Given the description of an element on the screen output the (x, y) to click on. 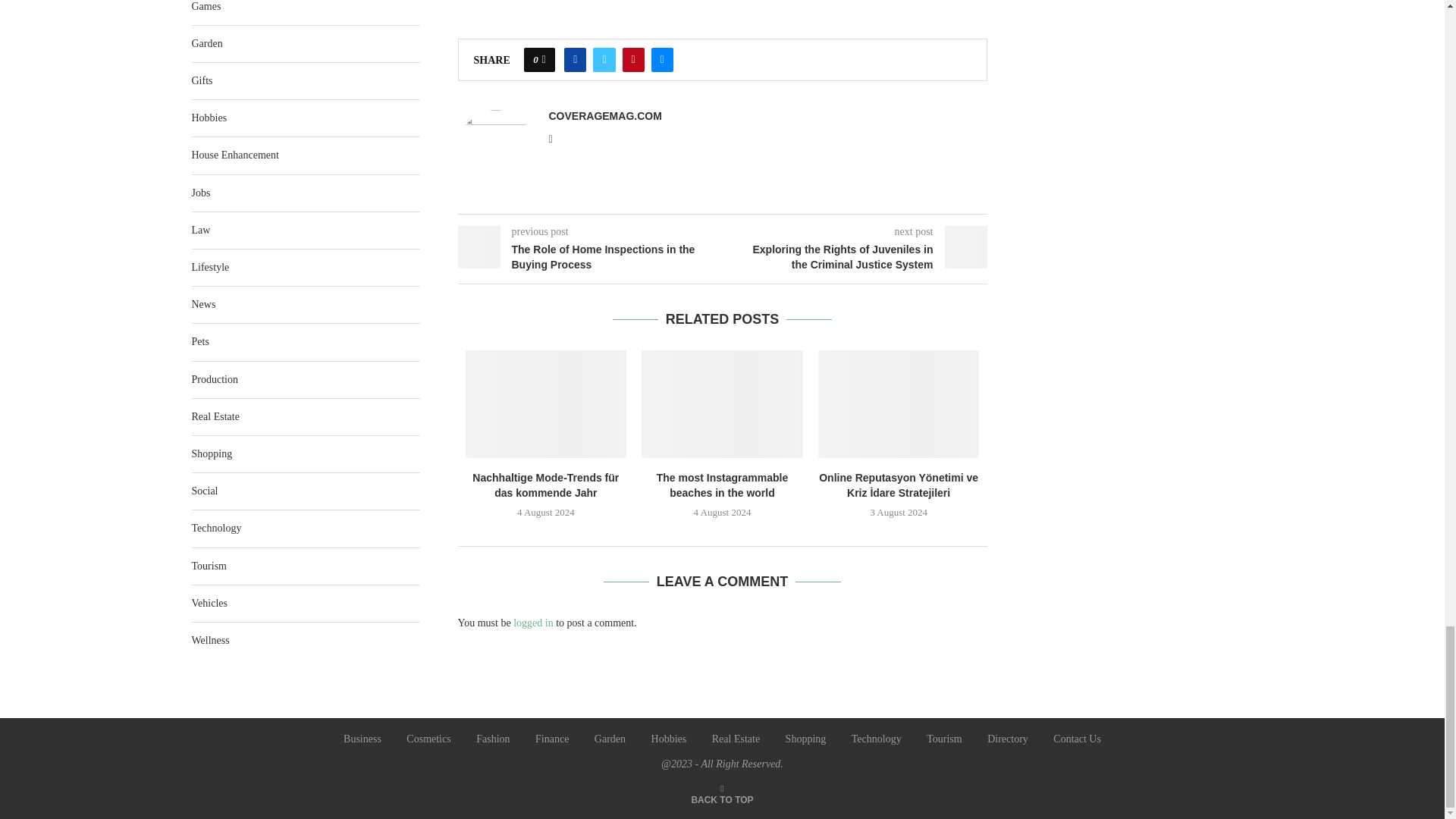
COVERAGEMAG.COM (605, 115)
Author coveragemag.com (605, 115)
The most Instagrammable beaches in the world (722, 403)
Like (543, 59)
